Given the description of an element on the screen output the (x, y) to click on. 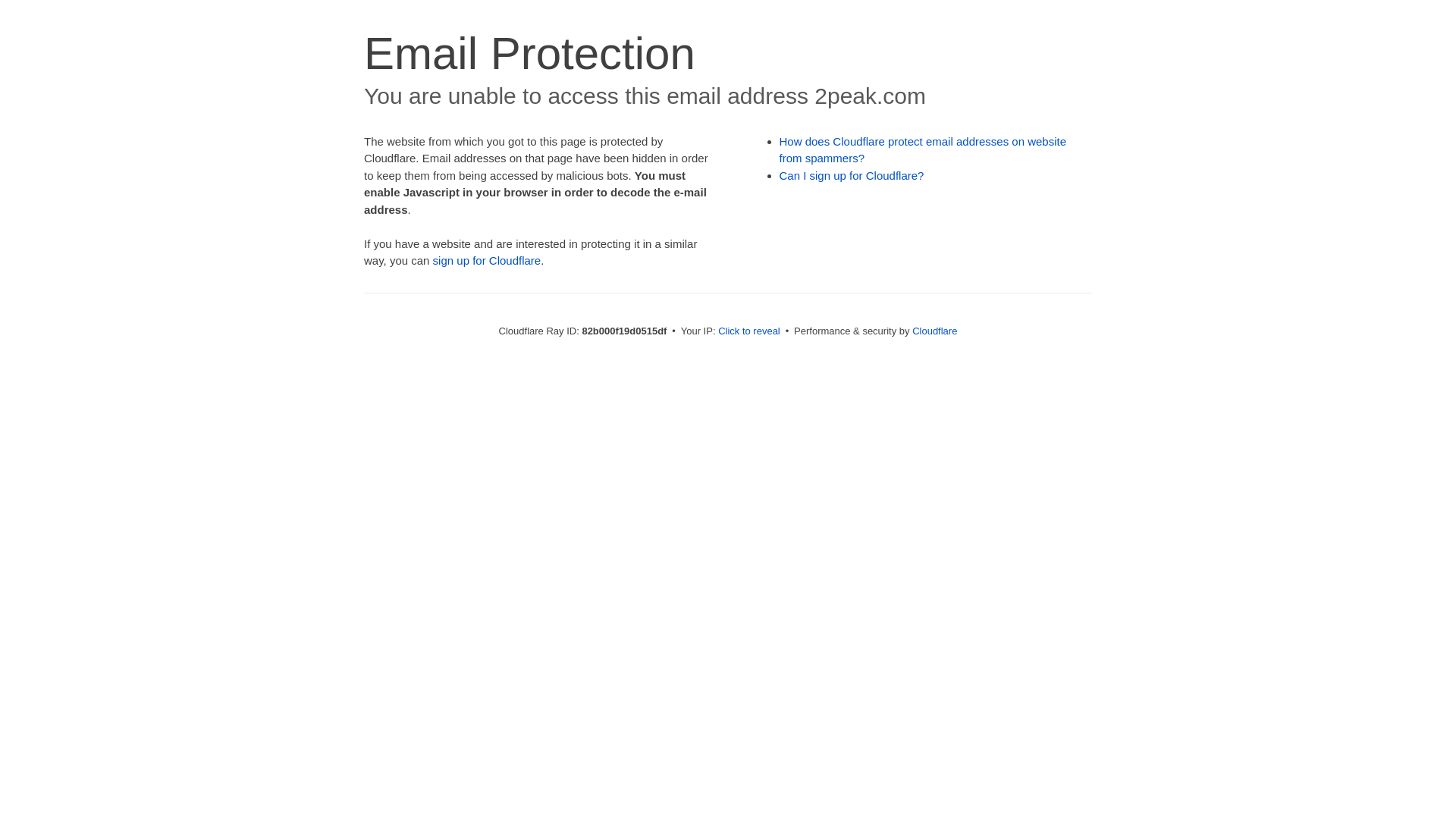
Cloudflare Element type: text (934, 330)
Can I sign up for Cloudflare? Element type: text (851, 175)
Click to reveal Element type: text (749, 330)
sign up for Cloudflare Element type: text (487, 260)
